Given the description of an element on the screen output the (x, y) to click on. 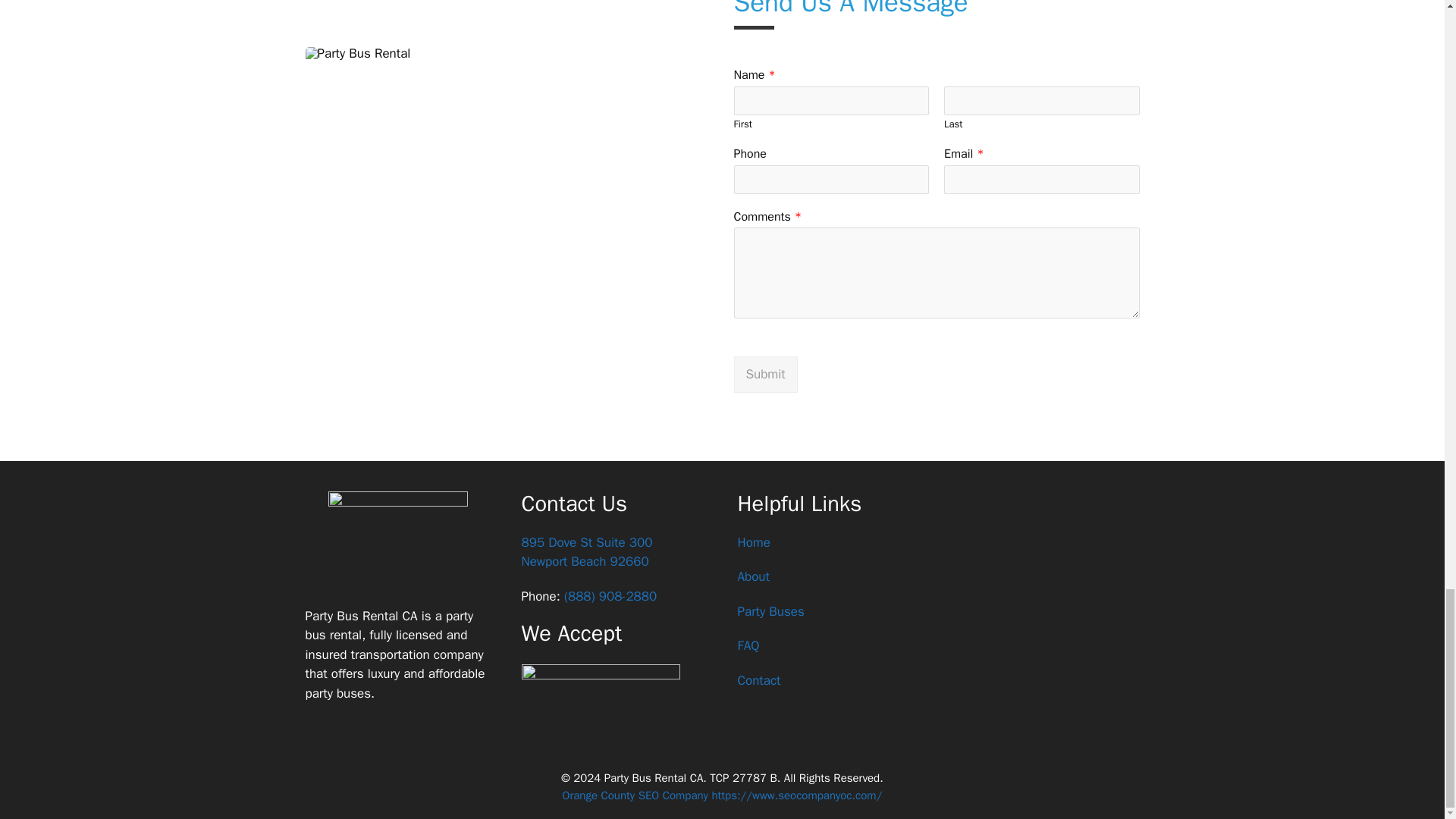
Home (753, 542)
Contact (758, 680)
FAQ (747, 645)
About (752, 576)
Party Buses (769, 611)
Submit (586, 552)
